Given the description of an element on the screen output the (x, y) to click on. 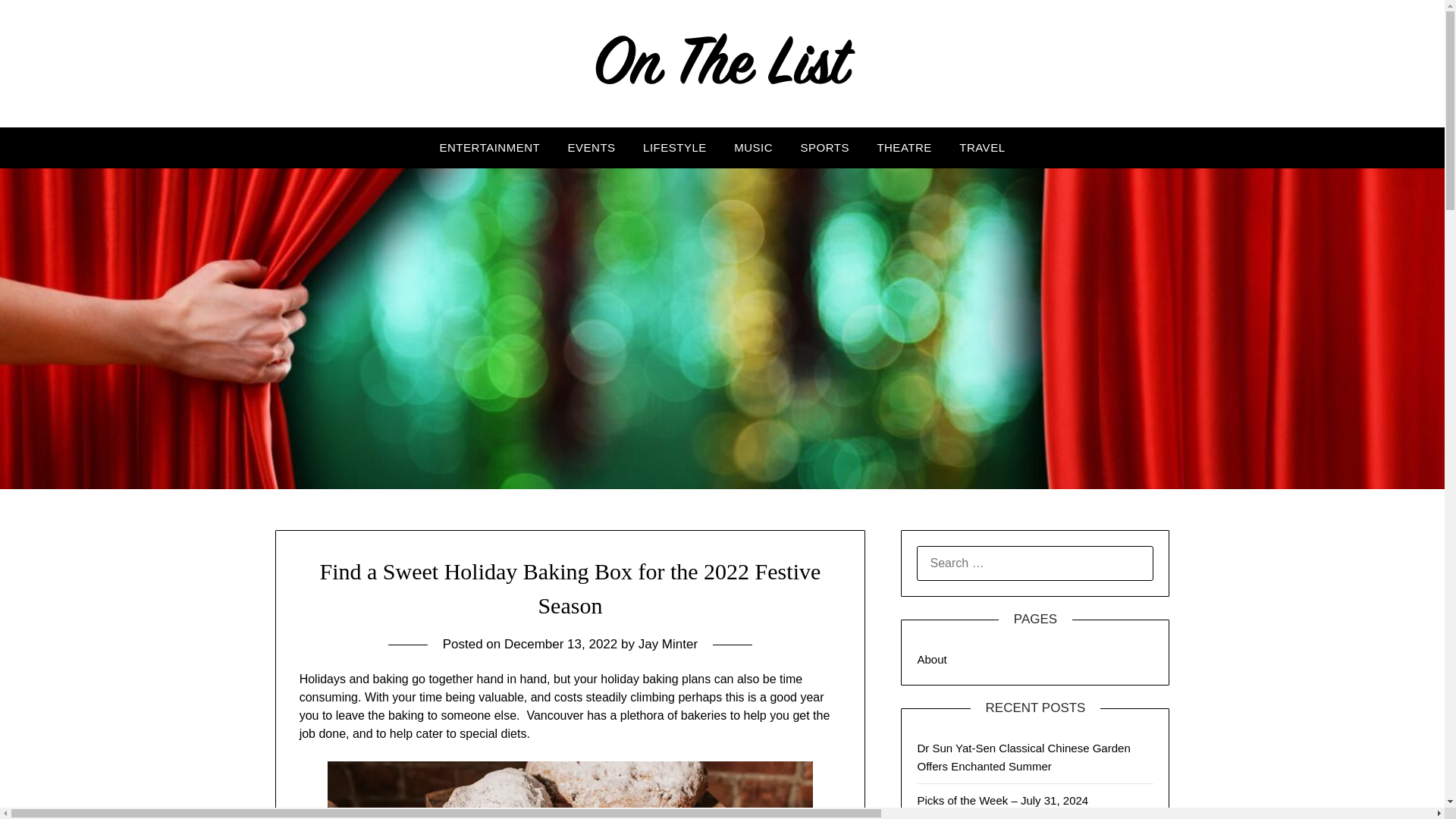
LIFESTYLE (674, 147)
Jay Minter (668, 644)
ENTERTAINMENT (490, 147)
About (931, 658)
MUSIC (753, 147)
Search (38, 22)
December 13, 2022 (560, 644)
SPORTS (825, 147)
TRAVEL (981, 147)
EVENTS (591, 147)
THEATRE (903, 147)
